Given the description of an element on the screen output the (x, y) to click on. 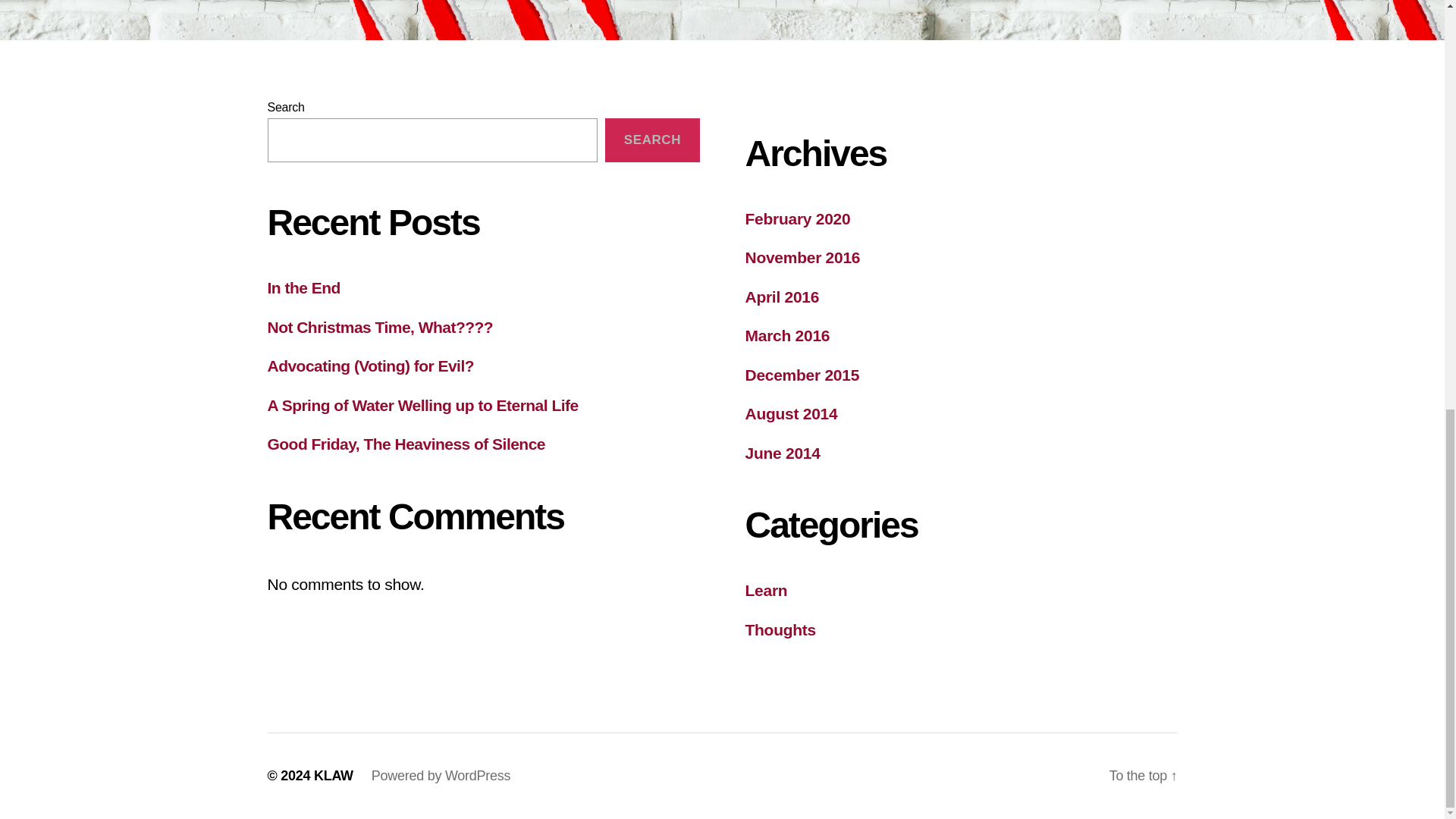
March 2016 (786, 334)
A Spring of Water Welling up to Eternal Life (422, 405)
November 2016 (802, 257)
February 2020 (797, 218)
KLAW (333, 775)
August 2014 (790, 413)
April 2016 (781, 296)
Thoughts (779, 629)
Not Christmas Time, What???? (379, 326)
Learn (765, 589)
June 2014 (781, 452)
SEARCH (651, 139)
In the End (302, 287)
Good Friday, The Heaviness of Silence (405, 443)
Powered by WordPress (441, 775)
